Given the description of an element on the screen output the (x, y) to click on. 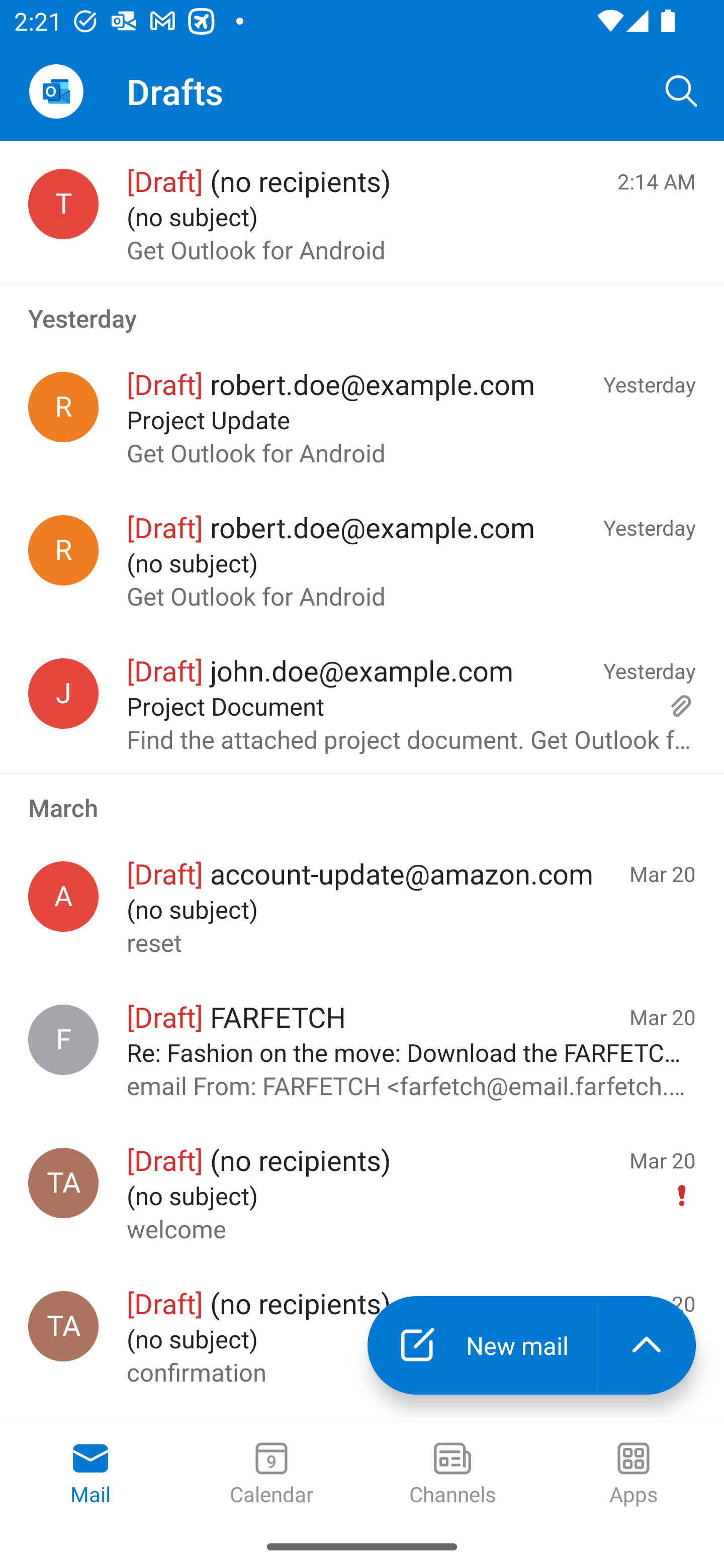
Search, ,  (681, 90)
Open Navigation Drawer (55, 91)
testappium002@outlook.com (63, 204)
robert.doe@example.com, testappium002@outlook.com (63, 406)
robert.doe@example.com, testappium002@outlook.com (63, 549)
john.doe@example.com, testappium002@outlook.com (63, 693)
account-update@amazon.com (63, 895)
FARFETCH, testappium002@outlook.com (63, 1040)
Test Appium, testappium002@outlook.com (63, 1182)
Test Appium, testappium002@outlook.com (63, 1325)
New mail (481, 1344)
launch the extended action menu (646, 1344)
